Given the description of an element on the screen output the (x, y) to click on. 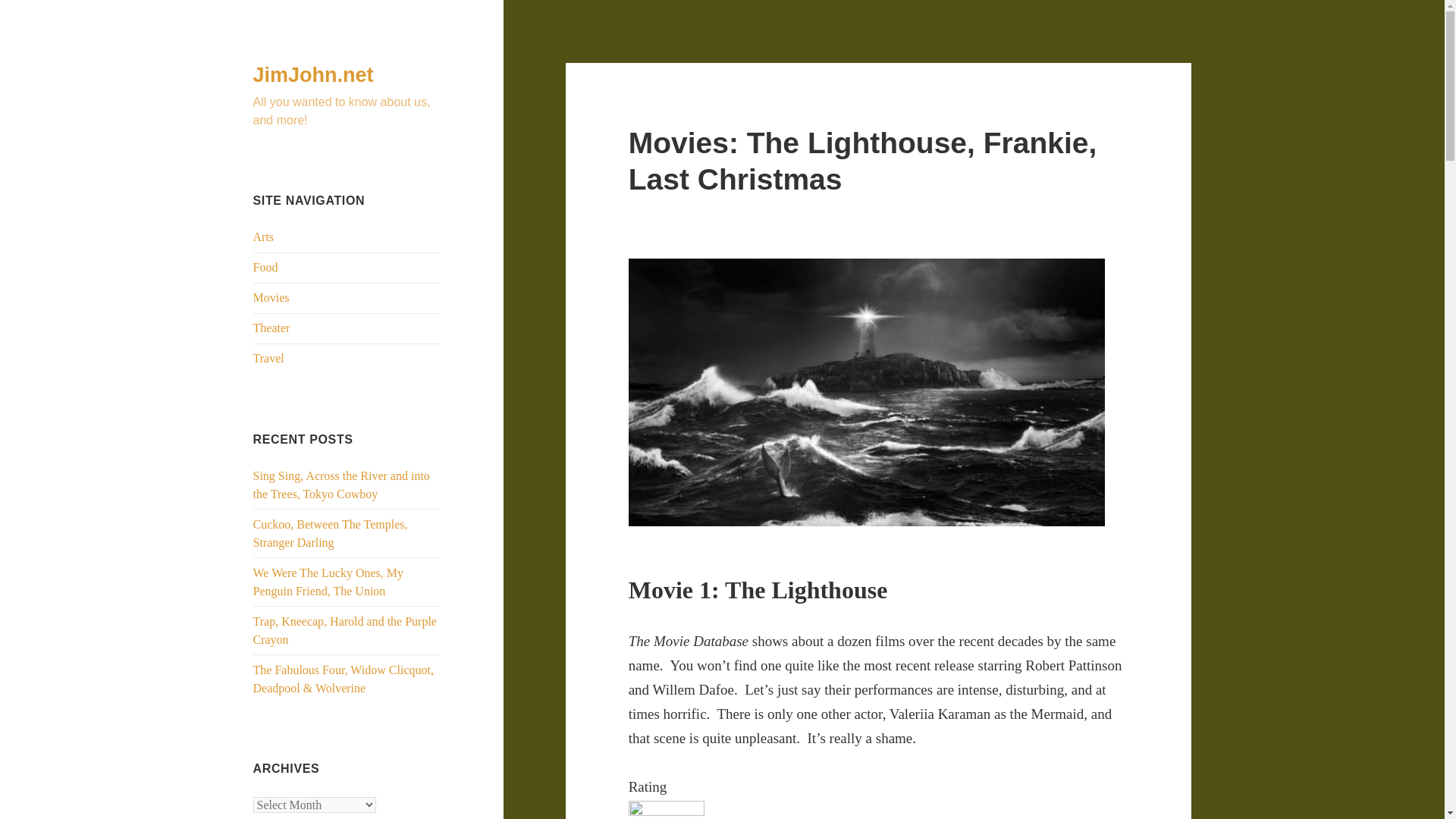
Sing Sing, Across the River and into the Trees, Tokyo Cowboy (341, 484)
We Were The Lucky Ones, My Penguin Friend, The Union (328, 581)
Theater (271, 327)
JimJohn.net (313, 74)
Food (265, 267)
Travel (268, 358)
Movies (271, 297)
Trap, Kneecap, Harold and the Purple Crayon (344, 630)
Arts (264, 236)
Cuckoo, Between The Temples, Stranger Darling (330, 532)
